Given the description of an element on the screen output the (x, y) to click on. 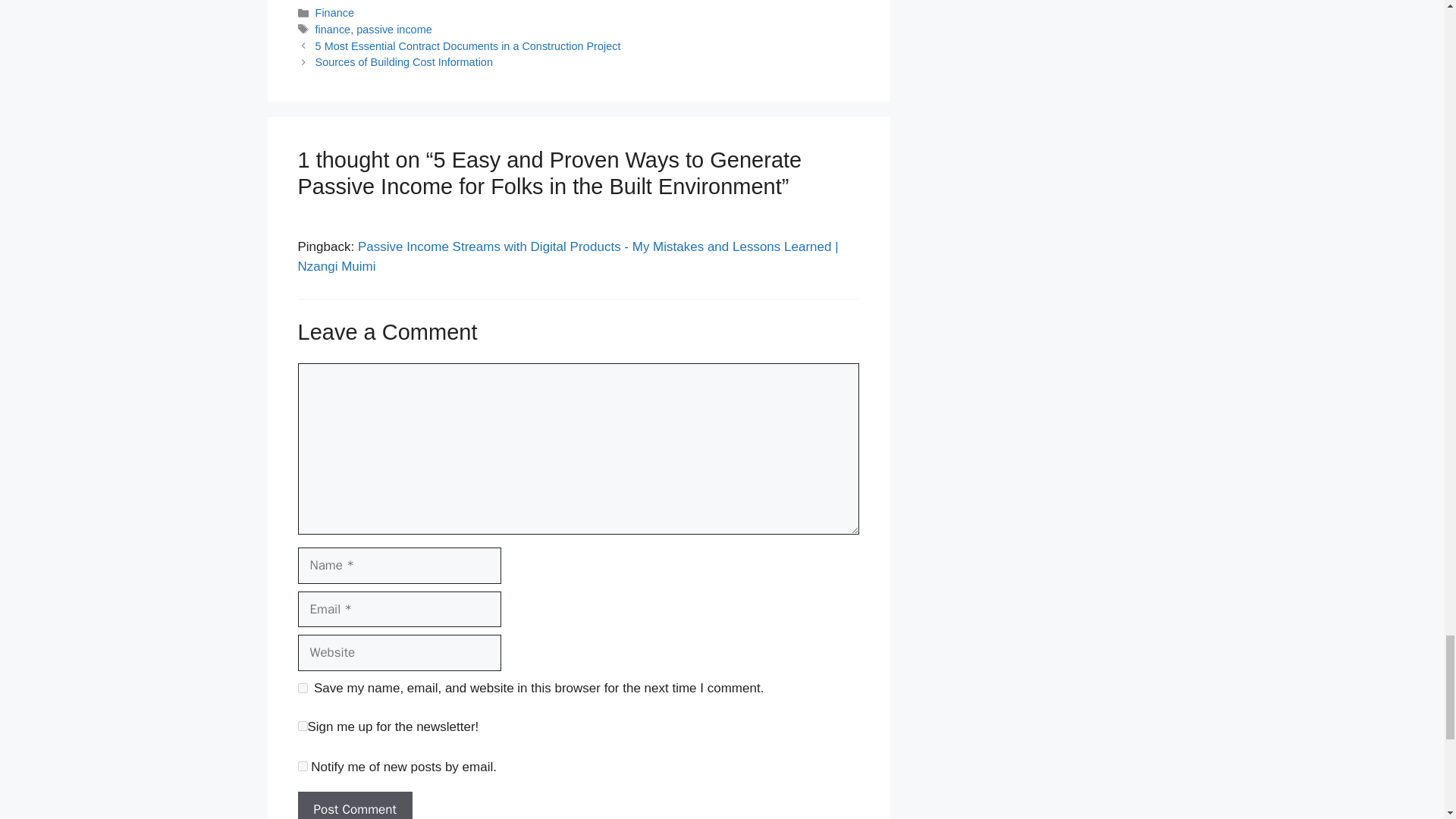
yes (302, 687)
passive income (394, 29)
Post Comment (354, 805)
subscribe (302, 766)
Finance (334, 12)
Sources of Building Cost Information (404, 61)
finance (332, 29)
1 (302, 726)
Post Comment (354, 805)
